Given the description of an element on the screen output the (x, y) to click on. 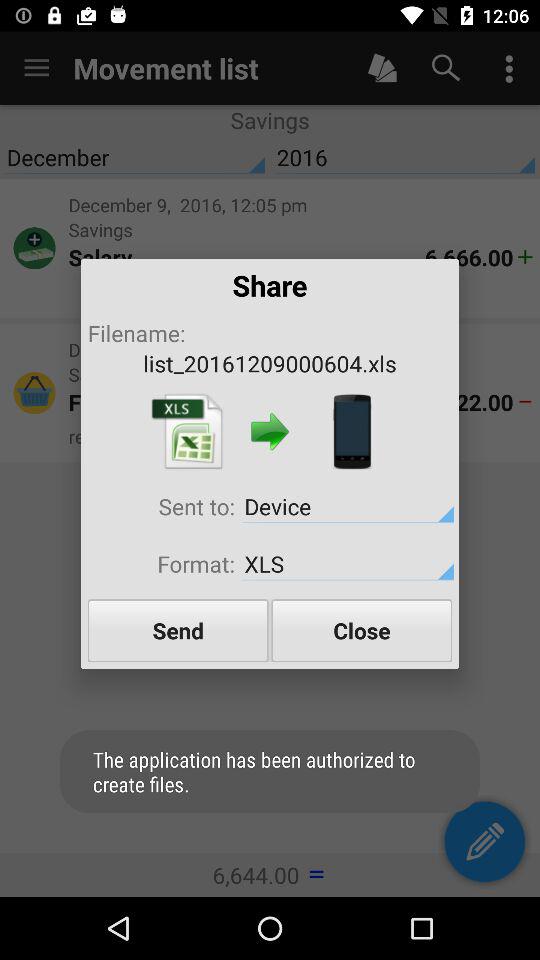
menu page (187, 431)
